Given the description of an element on the screen output the (x, y) to click on. 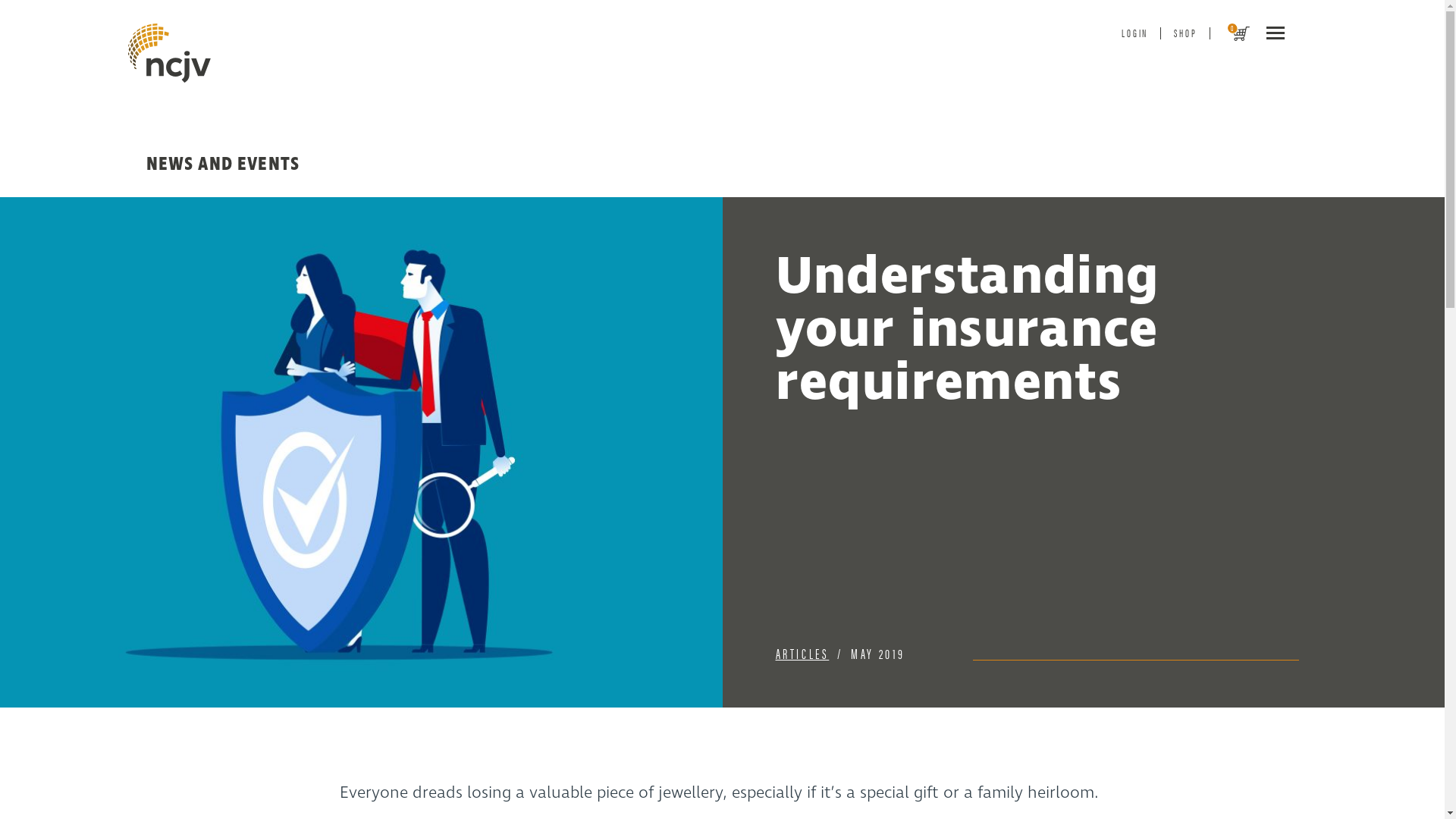
ARTICLES Element type: text (801, 652)
LOGIN Element type: text (1134, 32)
SHOP Element type: text (1185, 32)
0 Element type: text (1229, 32)
